Given the description of an element on the screen output the (x, y) to click on. 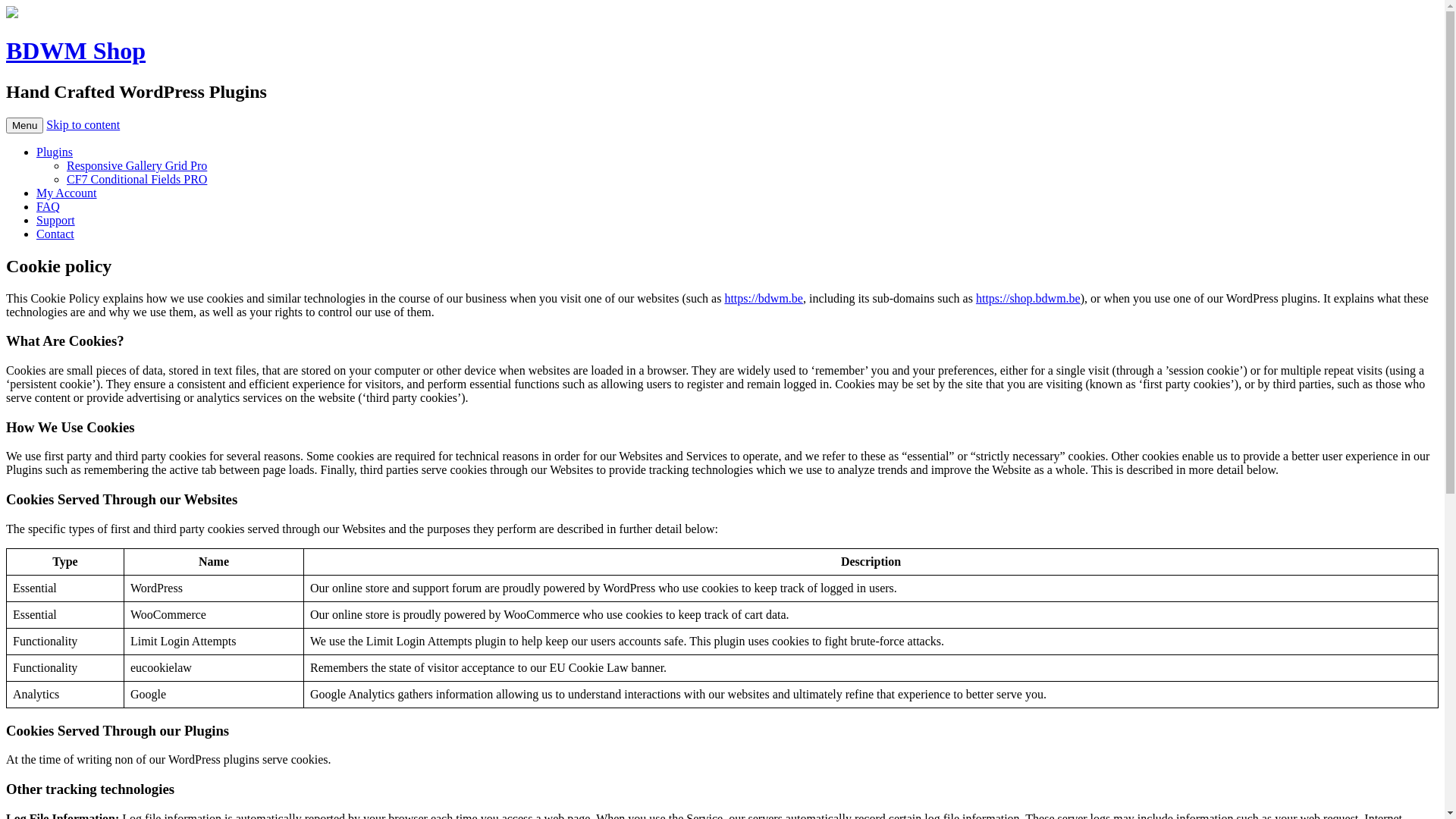
Skip to content Element type: text (82, 124)
Responsive Gallery Grid Pro Element type: text (136, 165)
https://shop.bdwm.be Element type: text (1027, 297)
Contact Element type: text (55, 233)
My Account Element type: text (66, 192)
Support Element type: text (55, 219)
https://bdwm.be Element type: text (763, 297)
Plugins Element type: text (54, 151)
FAQ Element type: text (47, 206)
BDWM Shop Element type: text (75, 50)
Menu Element type: text (24, 125)
CF7 Conditional Fields PRO Element type: text (136, 178)
